Given the description of an element on the screen output the (x, y) to click on. 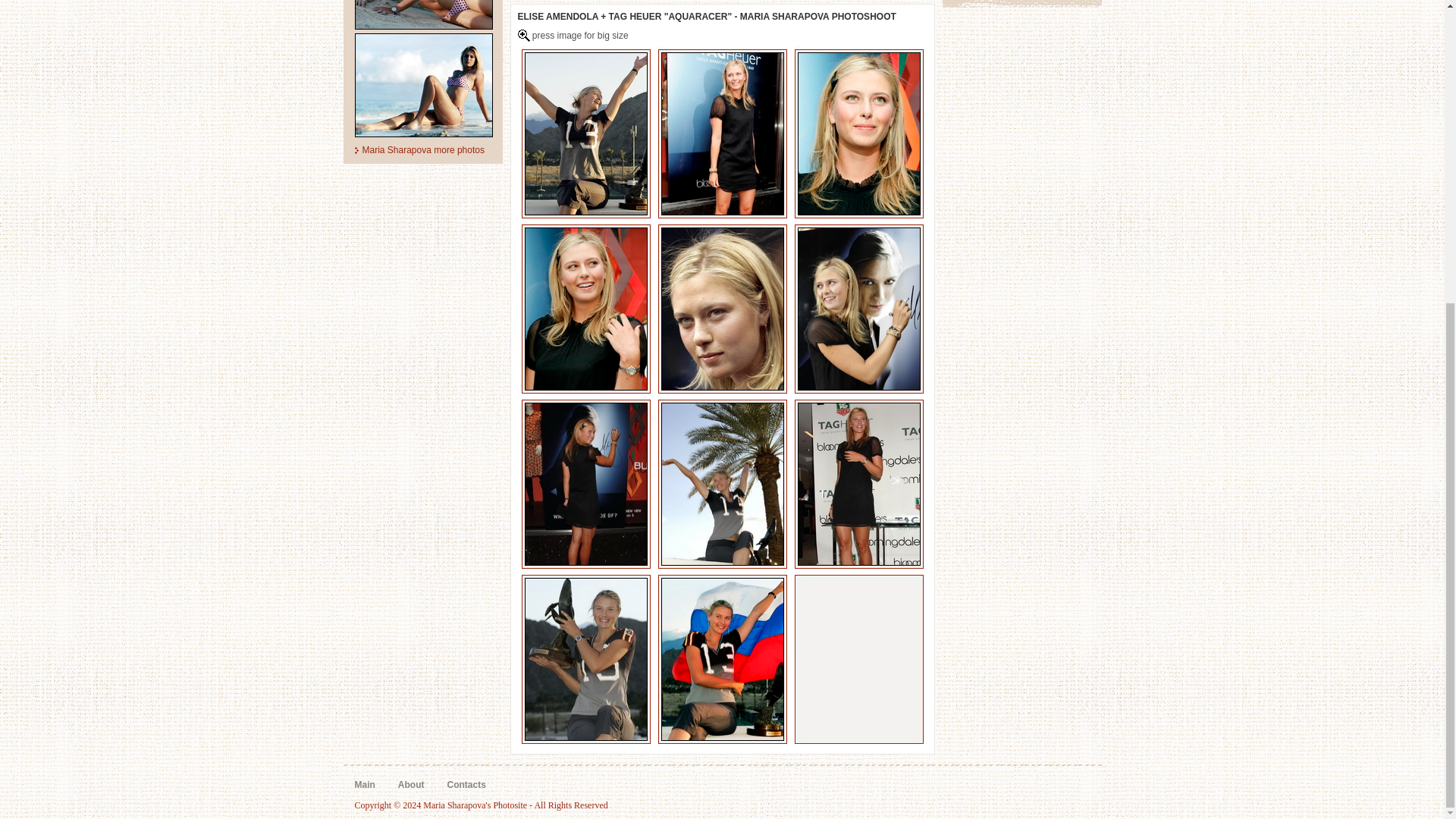
About (411, 784)
Maria Sharapova more photos (423, 149)
Main (365, 784)
Maria Sharapova more photos (423, 149)
Contacts (466, 784)
